Given the description of an element on the screen output the (x, y) to click on. 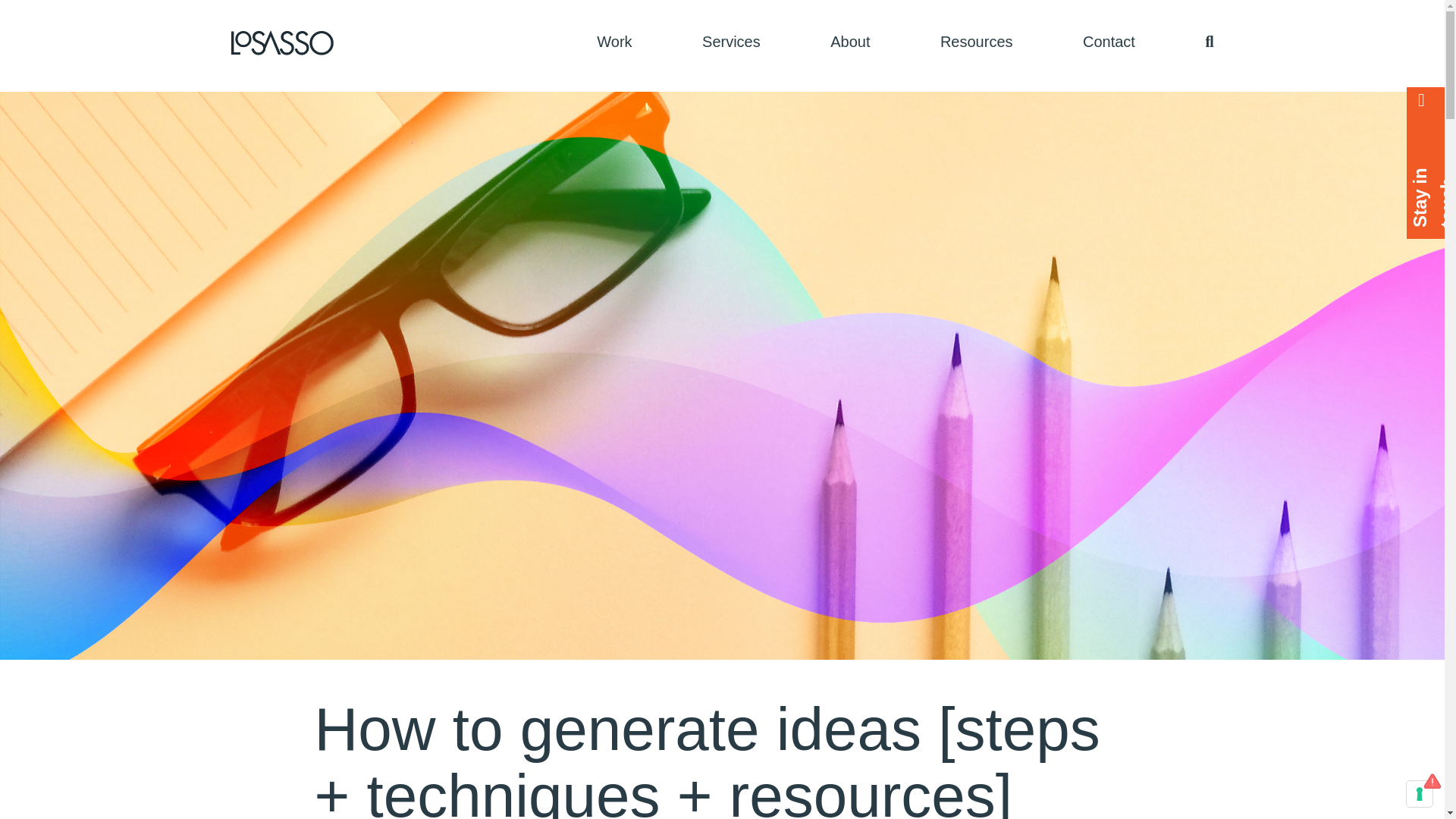
About (849, 41)
Resources (976, 41)
Contact (1109, 41)
Work (613, 41)
Services (730, 41)
